Given the description of an element on the screen output the (x, y) to click on. 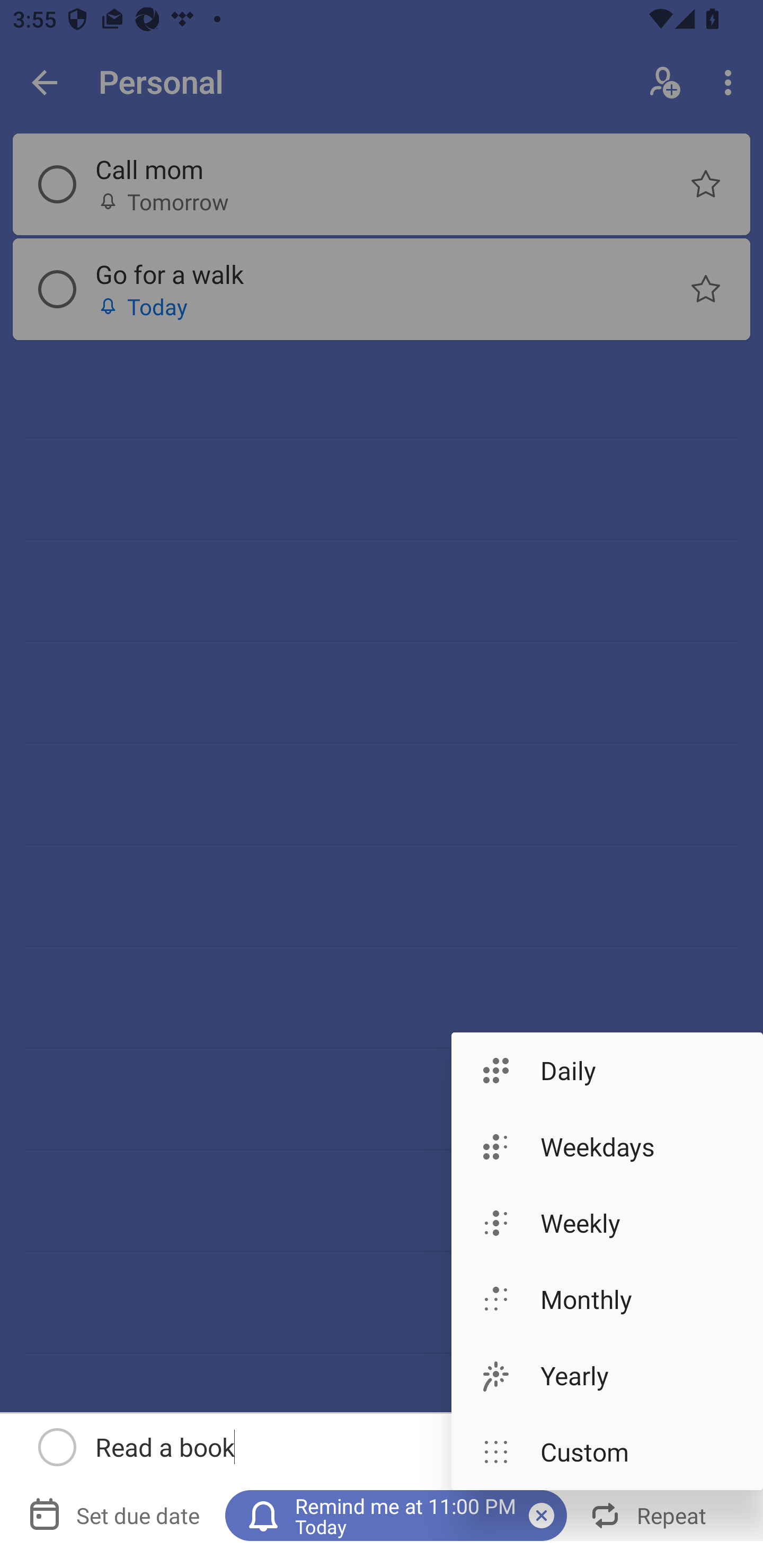
Daily1 in 6 Daily (607, 1069)
